Given the description of an element on the screen output the (x, y) to click on. 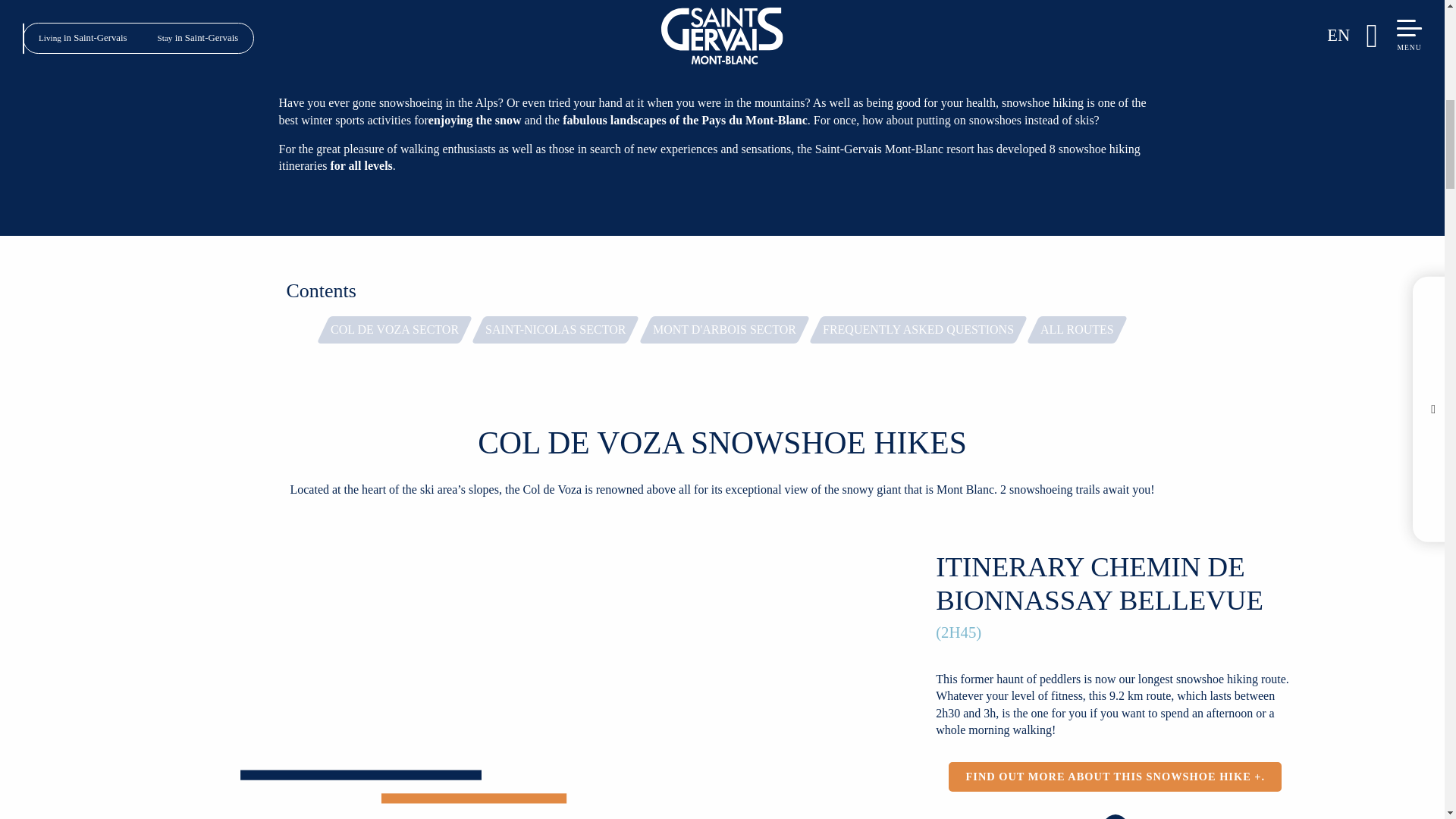
ALL ROUTES (1076, 329)
SAINT-NICOLAS SECTOR (555, 329)
Hiking in all its forms, in all seasons (453, 2)
COL DE VOZA SECTOR (394, 329)
My inspiration (338, 2)
Stay (288, 2)
MONT D'ARBOIS SECTOR (724, 329)
FREQUENTLY ASKED QUESTIONS (918, 329)
